Given the description of an element on the screen output the (x, y) to click on. 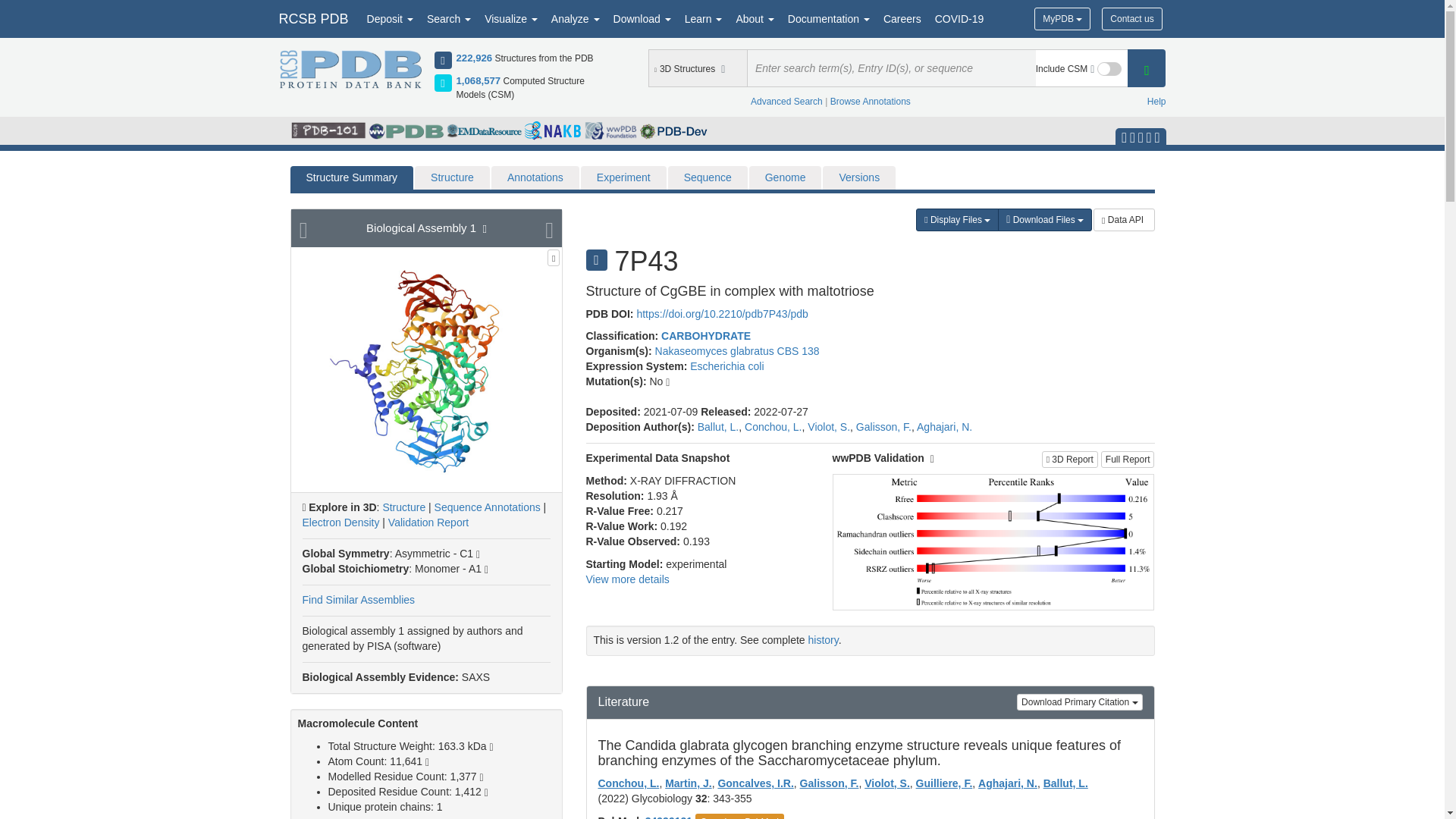
MyPDB (1061, 18)
Search  (448, 18)
RCSB PDB (312, 18)
Deposit  (389, 18)
